Given the description of an element on the screen output the (x, y) to click on. 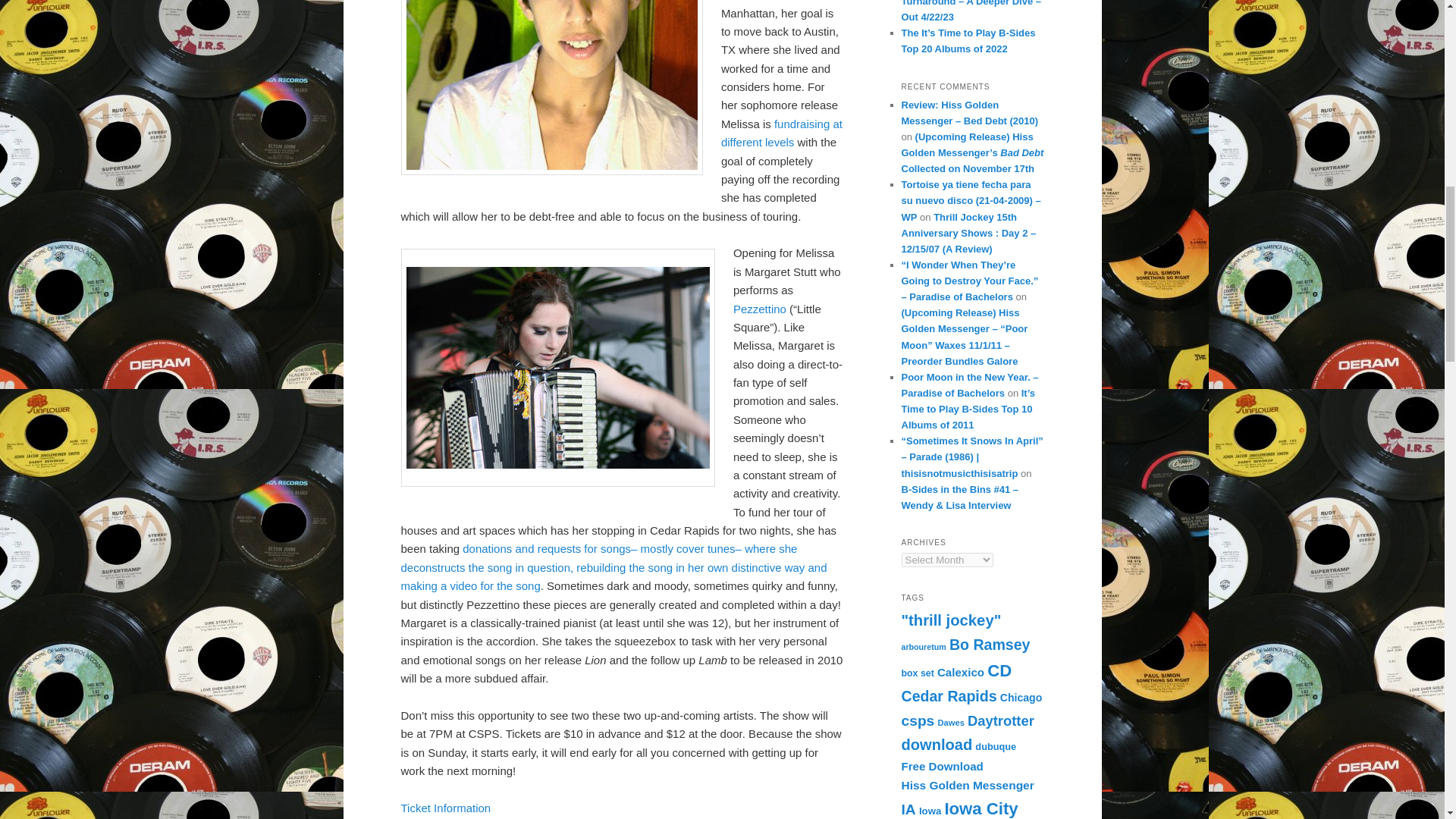
fundraising at different levels (781, 132)
Pezzettino (759, 308)
Ticket Information (445, 807)
